Given the description of an element on the screen output the (x, y) to click on. 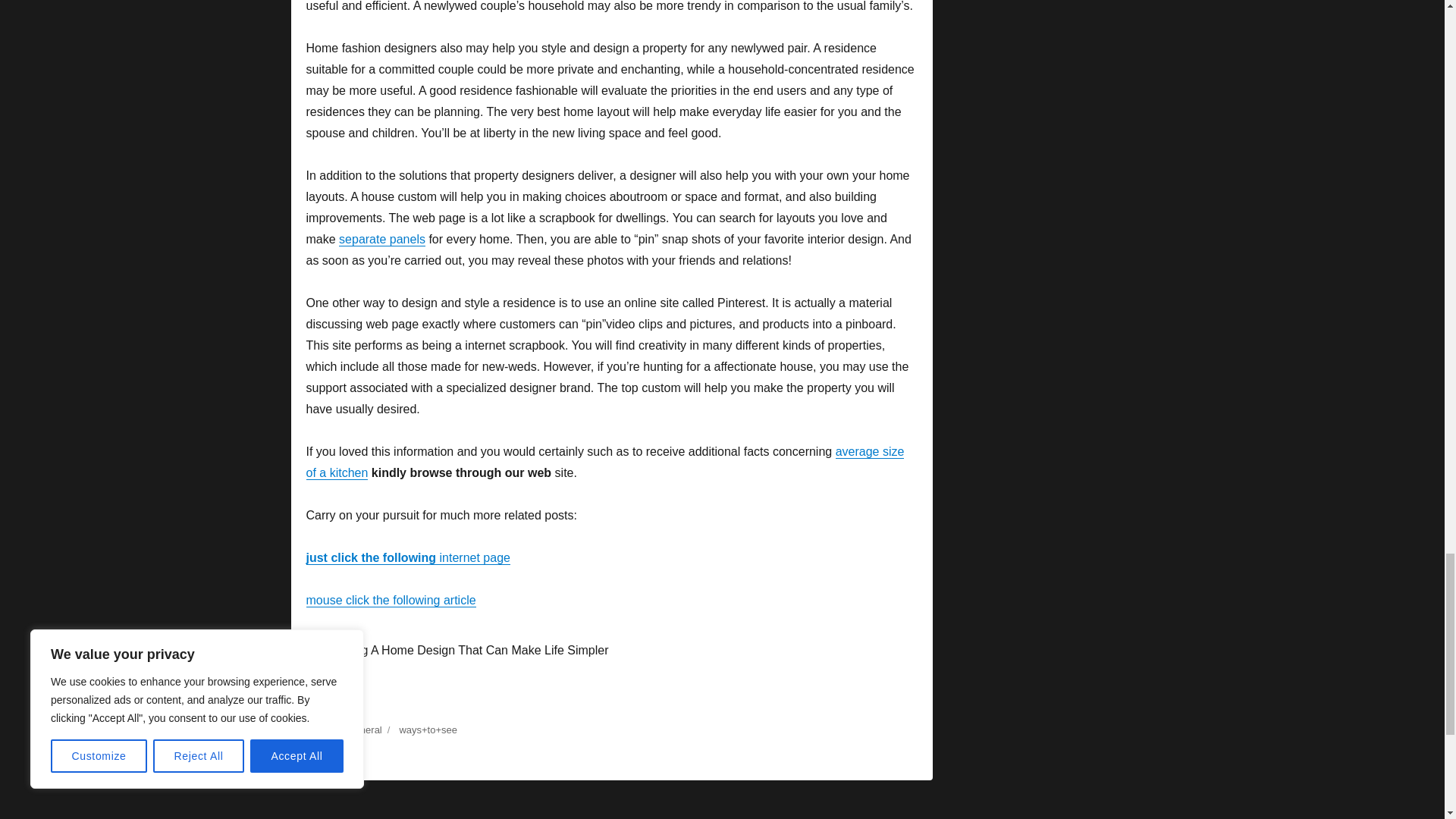
General (364, 729)
just click the following internet page (408, 557)
mouse click the following article (390, 599)
average size of a kitchen (604, 462)
separate panels (382, 238)
